Given the description of an element on the screen output the (x, y) to click on. 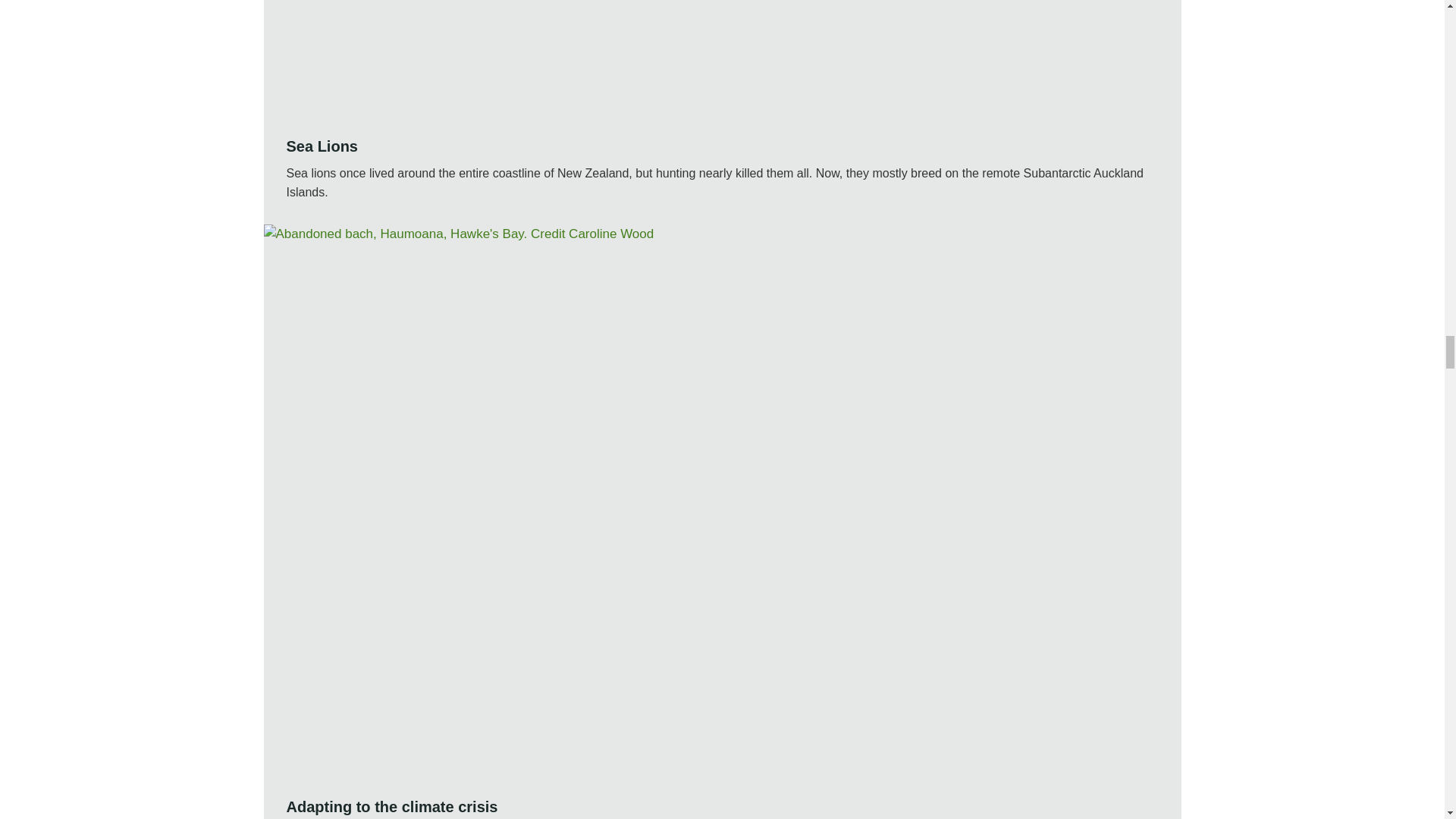
Conservation area ocean (721, 57)
